Given the description of an element on the screen output the (x, y) to click on. 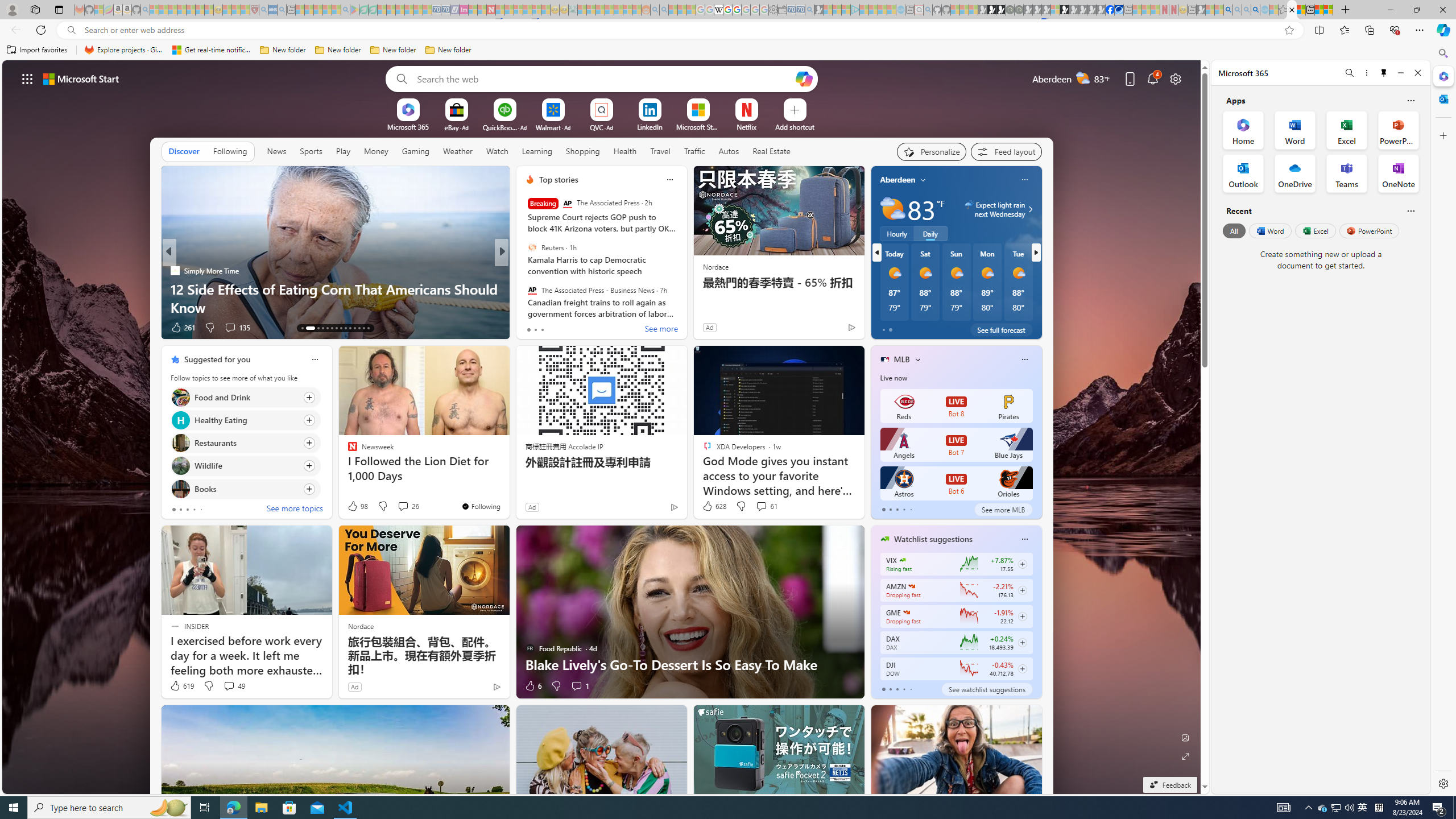
Latest Politics News & Archive | Newsweek.com - Sleeping (490, 9)
Aberdeen, Hong Kong SAR weather forecast | Microsoft Weather (1300, 9)
View comments 67 Comment (576, 327)
69 Like (530, 327)
Search icon (70, 29)
Microsoft-Report a Concern to Bing - Sleeping (98, 9)
MLB (901, 359)
App launcher (27, 78)
View comments 26 Comment (408, 505)
Click to follow topic Healthy Eating (245, 419)
54 Like (530, 327)
Expert Portfolios - Sleeping (608, 9)
Bing AI - Search (1227, 9)
Local - MSN - Sleeping (244, 9)
